Given the description of an element on the screen output the (x, y) to click on. 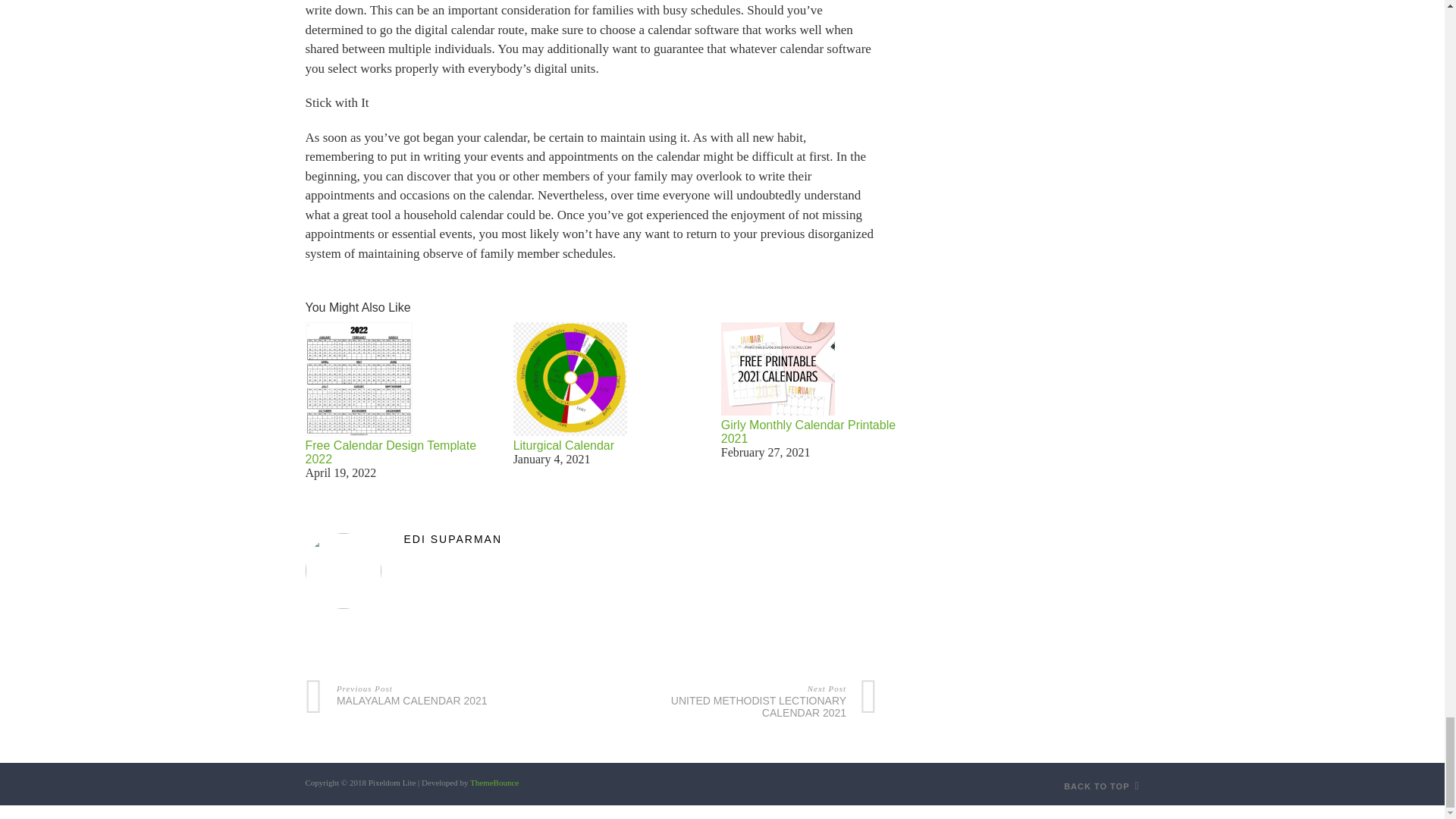
Liturgical Calendar (753, 699)
Free Calendar Design Template 2022 (563, 445)
Posts by edi suparman (427, 693)
Girly Monthly Calendar Printable 2021 (390, 452)
Girly Monthly Calendar Printable 2021 3 (590, 539)
ThemeBounce (807, 431)
BACK TO TOP (777, 368)
Liturgical Calendar 2 (494, 782)
Free Calendar Design Template 2022 1 (1101, 786)
EDI SUPARMAN (570, 378)
